Given the description of an element on the screen output the (x, y) to click on. 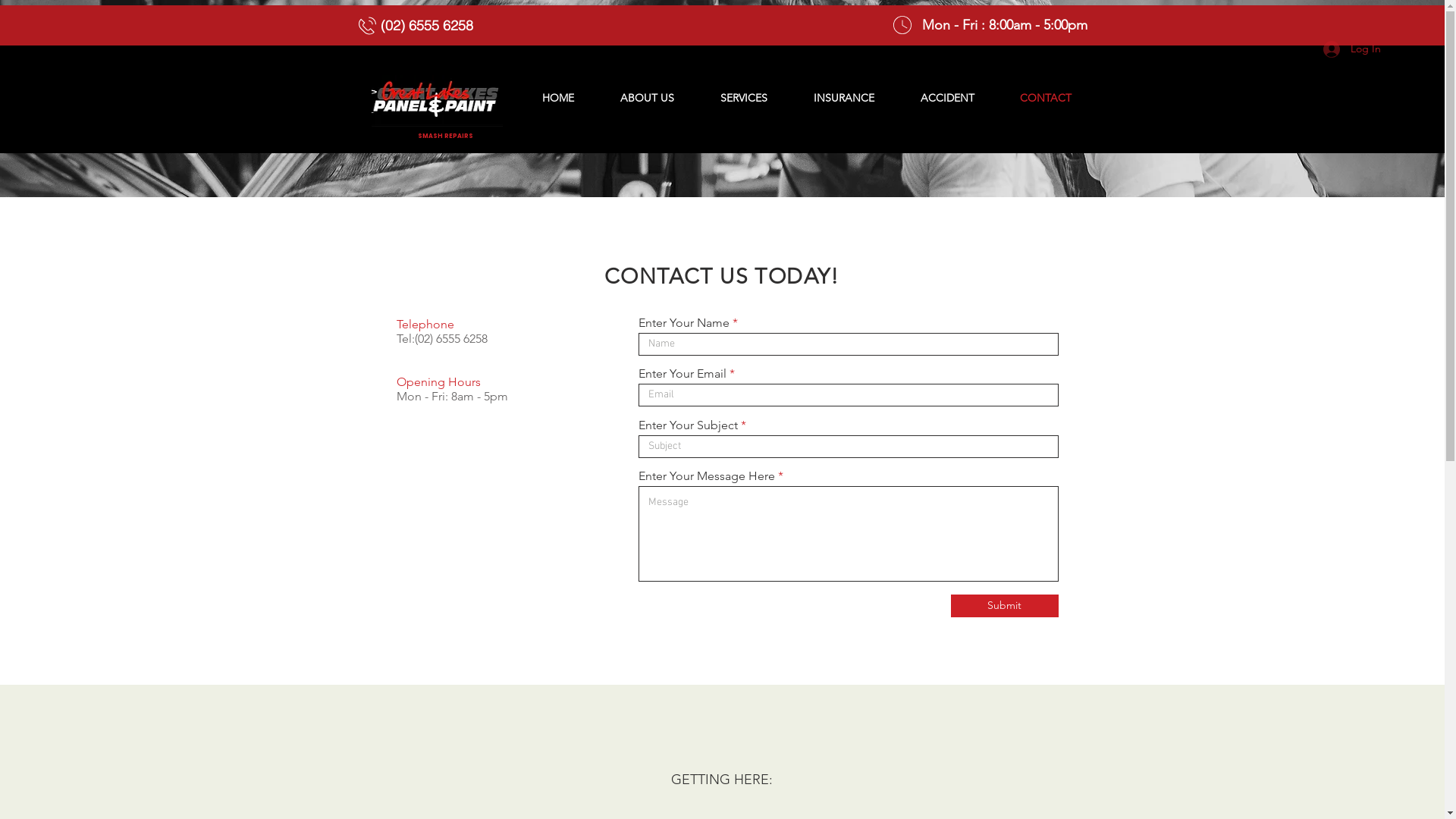
SERVICES Element type: text (743, 97)
HOME Element type: text (557, 97)
ACCIDENT Element type: text (947, 97)
INSURANCE Element type: text (843, 97)
ABOUT US Element type: text (647, 97)
CONTACT Element type: text (1044, 97)
Submit Element type: text (1004, 605)
Log In Element type: text (1350, 49)
